Given the description of an element on the screen output the (x, y) to click on. 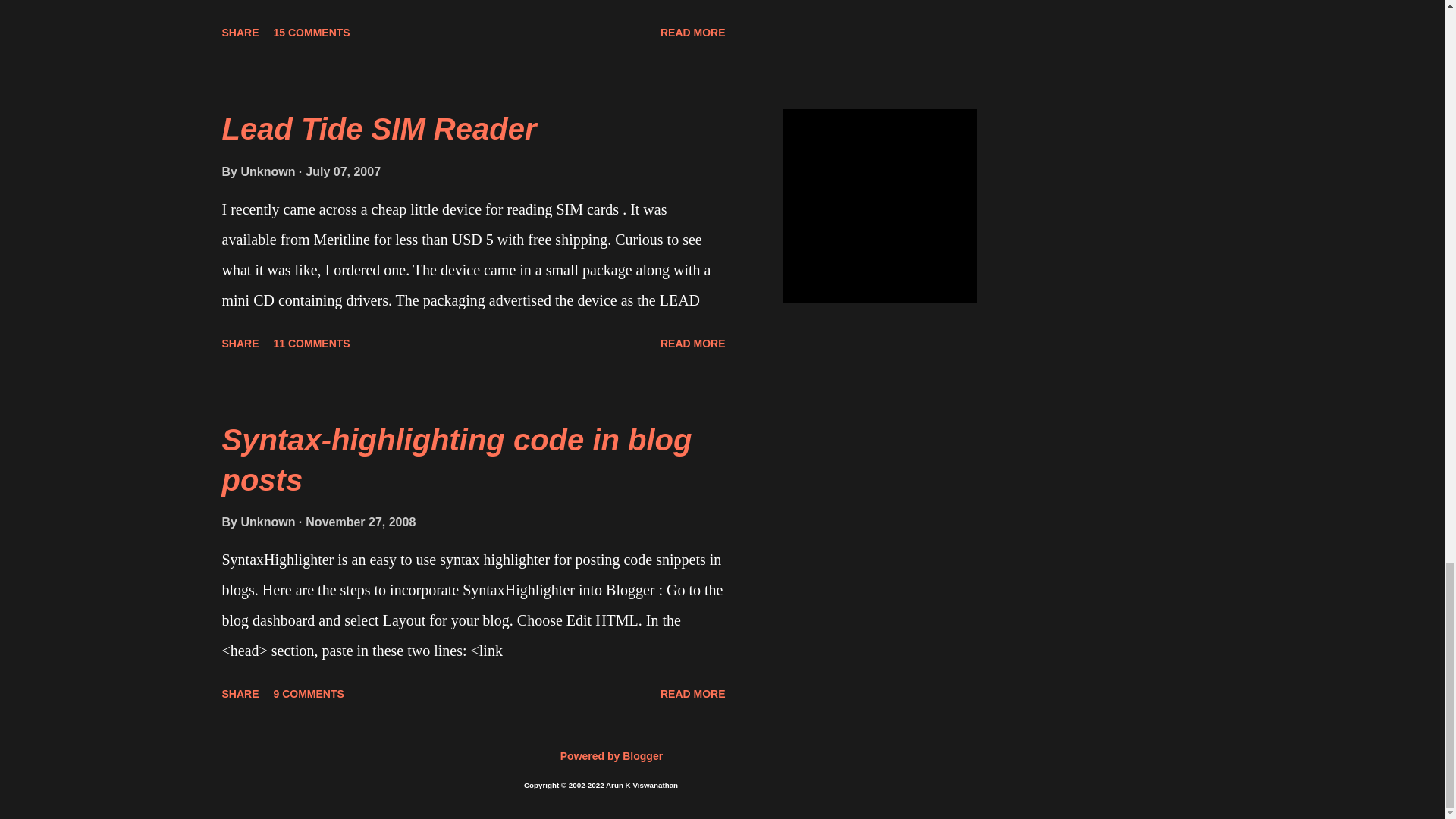
Unknown (269, 171)
Lead Tide SIM Reader (378, 128)
July 07, 2007 (342, 171)
SHARE (239, 32)
READ MORE (692, 32)
15 COMMENTS (311, 32)
SHARE (239, 343)
